Given the description of an element on the screen output the (x, y) to click on. 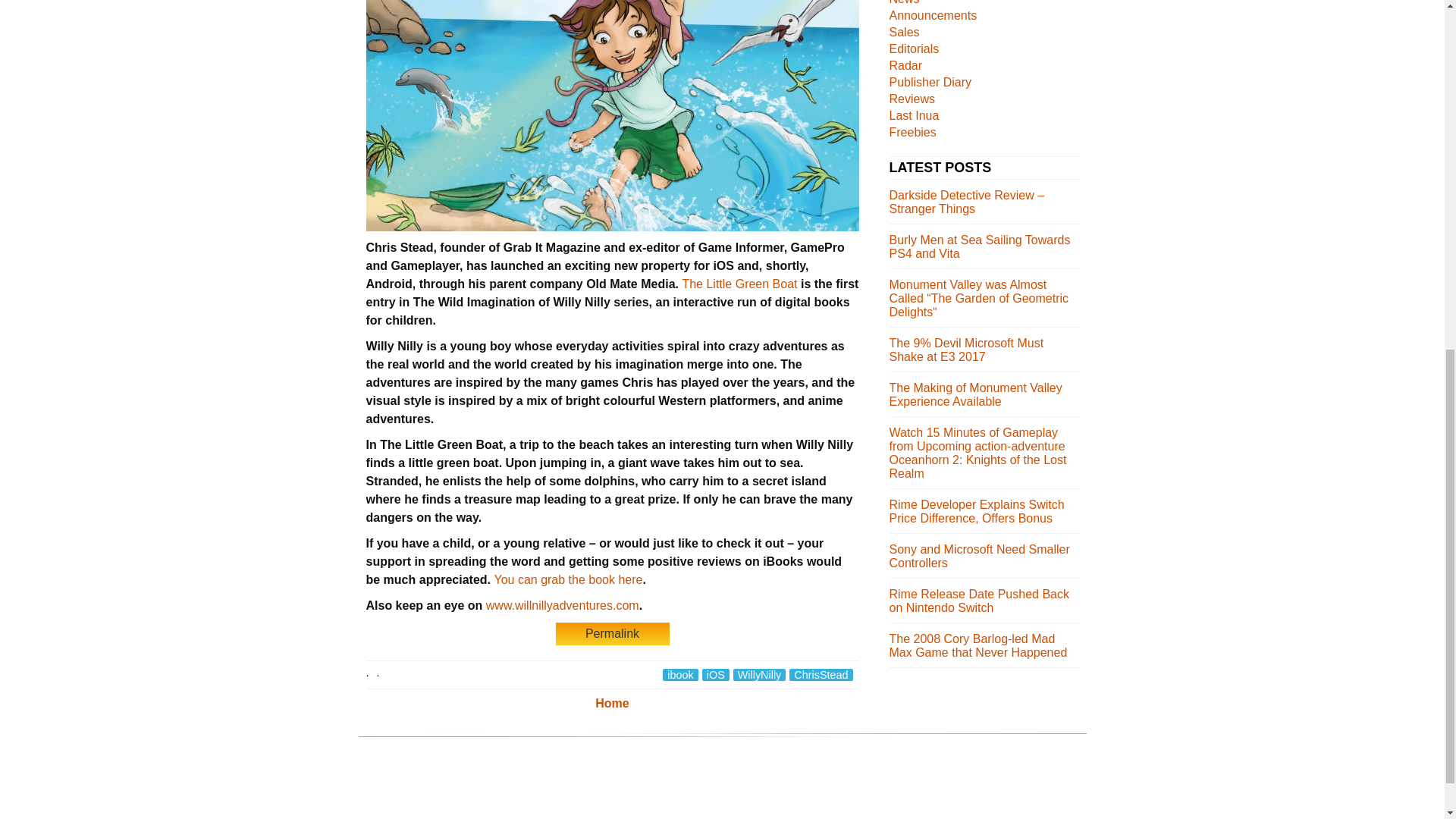
Permalink (611, 633)
ibook (679, 674)
iOS (715, 674)
www.willnillyadventures.com (562, 604)
ChrisStead (820, 674)
You can grab the book here (567, 579)
WillyNilly (759, 674)
Permalink (611, 633)
The Little Green Boat (738, 283)
